Given the description of an element on the screen output the (x, y) to click on. 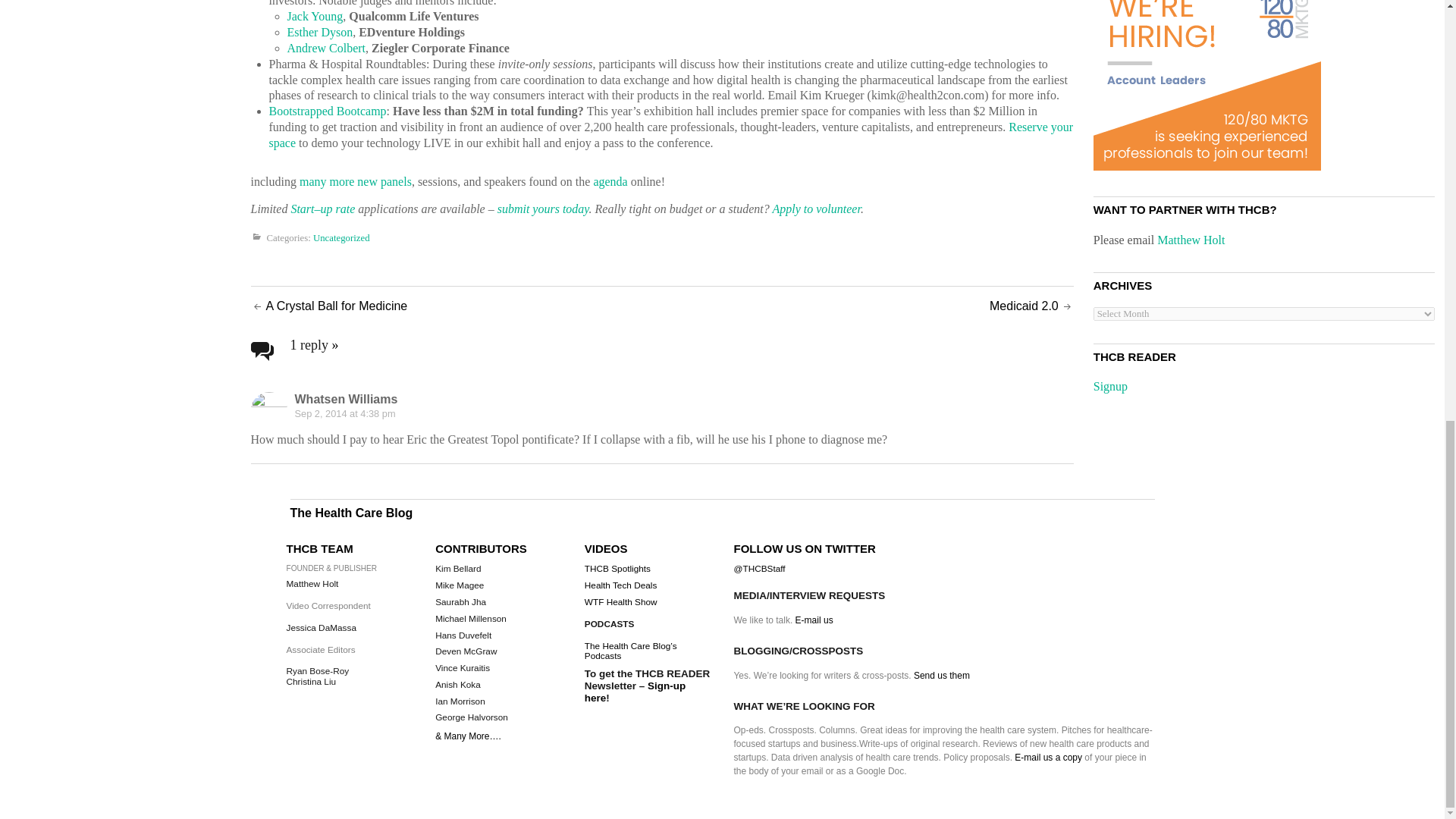
Bootstrapped Bootcamp (326, 110)
agenda (609, 181)
Reserve your space (670, 134)
Andrew Colbert (325, 47)
Jack Young (314, 15)
many more new panels (355, 181)
Esther Dyson (319, 31)
 rate (344, 208)
tart (305, 208)
up (326, 208)
